Given the description of an element on the screen output the (x, y) to click on. 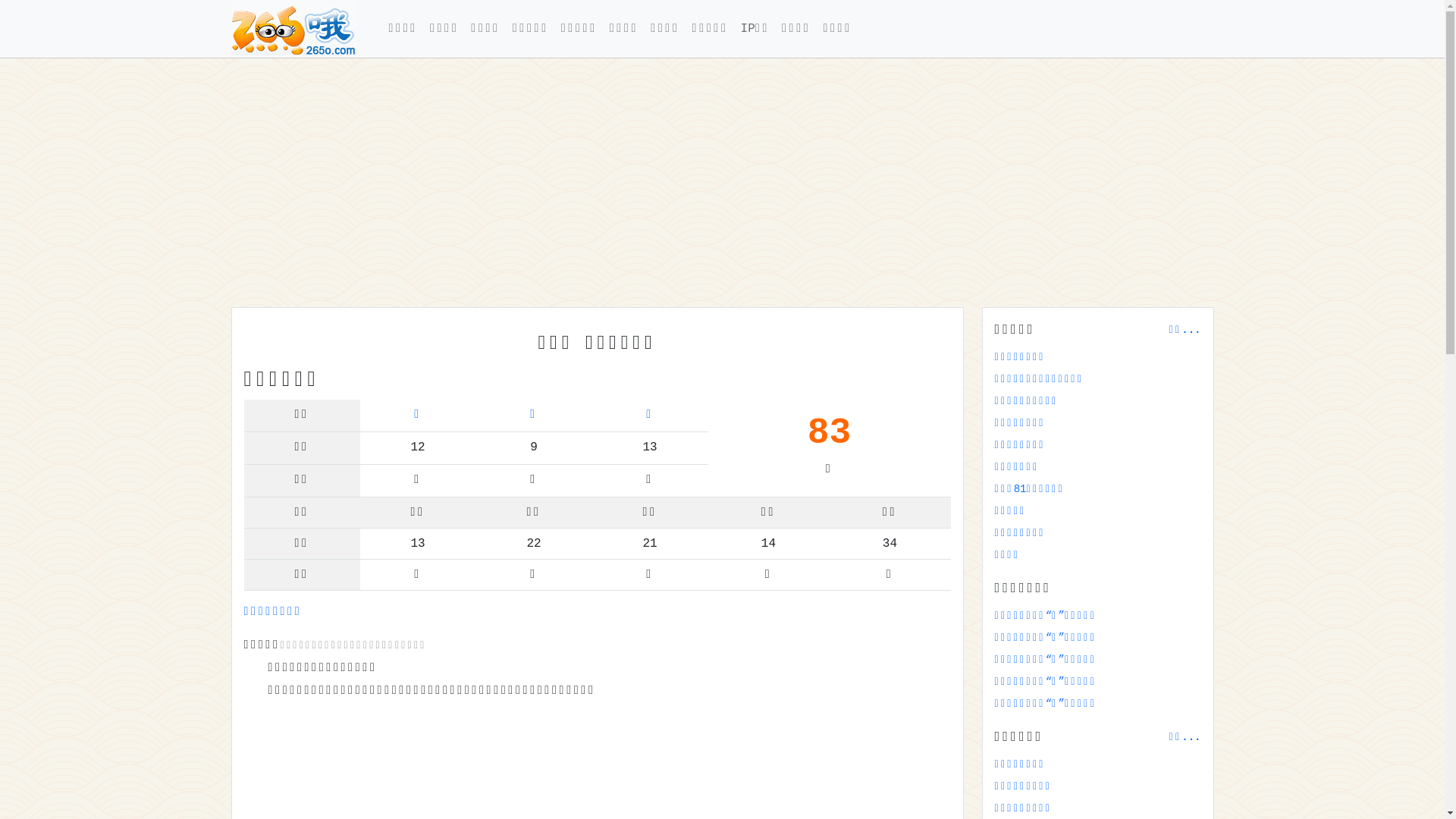
Advertisement Element type: hover (685, 182)
